Given the description of an element on the screen output the (x, y) to click on. 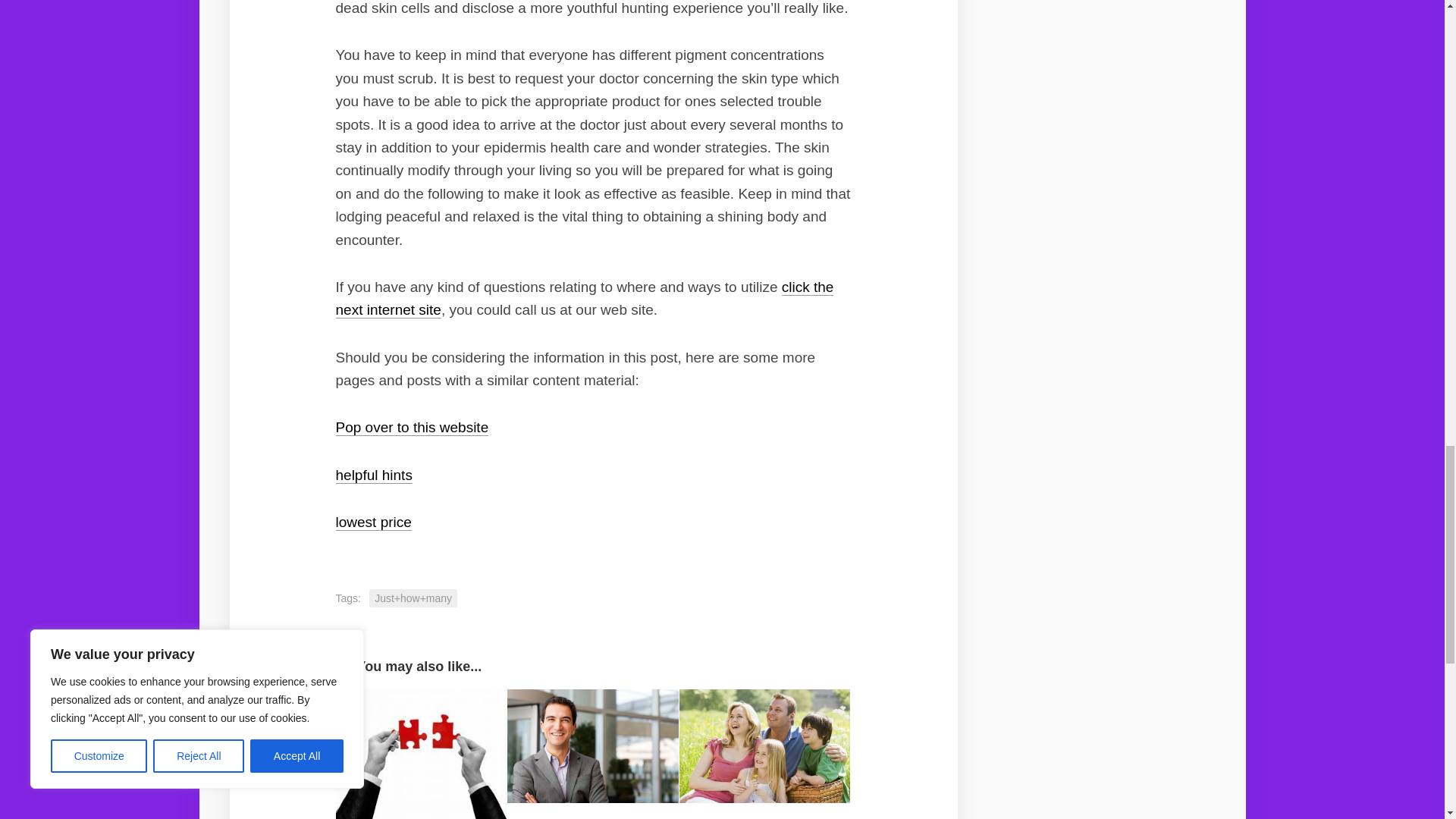
Pop over to this website (410, 426)
lowest price (372, 521)
click the next internet site (583, 298)
helpful hints (373, 474)
